Given the description of an element on the screen output the (x, y) to click on. 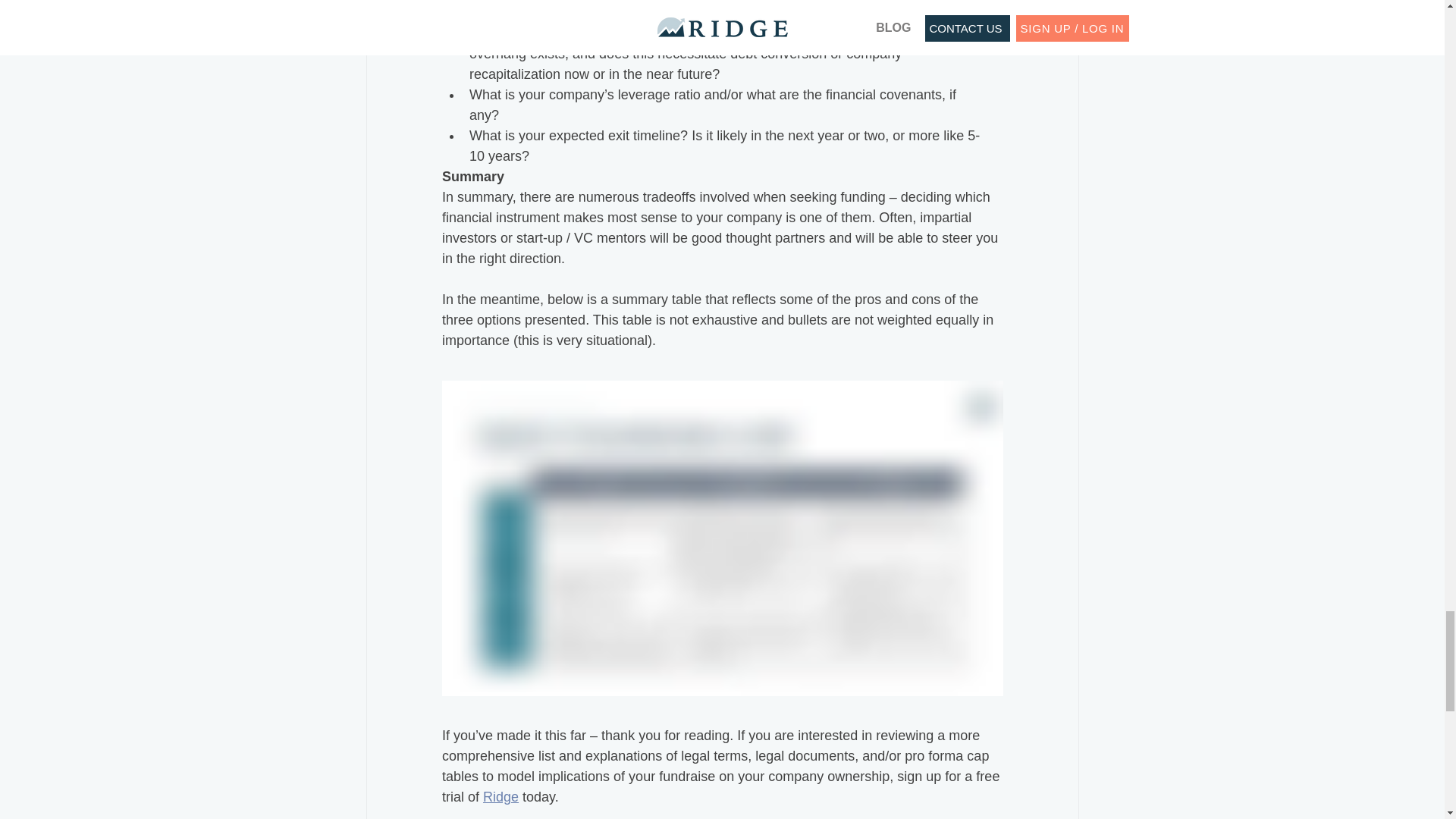
Ridge (500, 796)
